Given the description of an element on the screen output the (x, y) to click on. 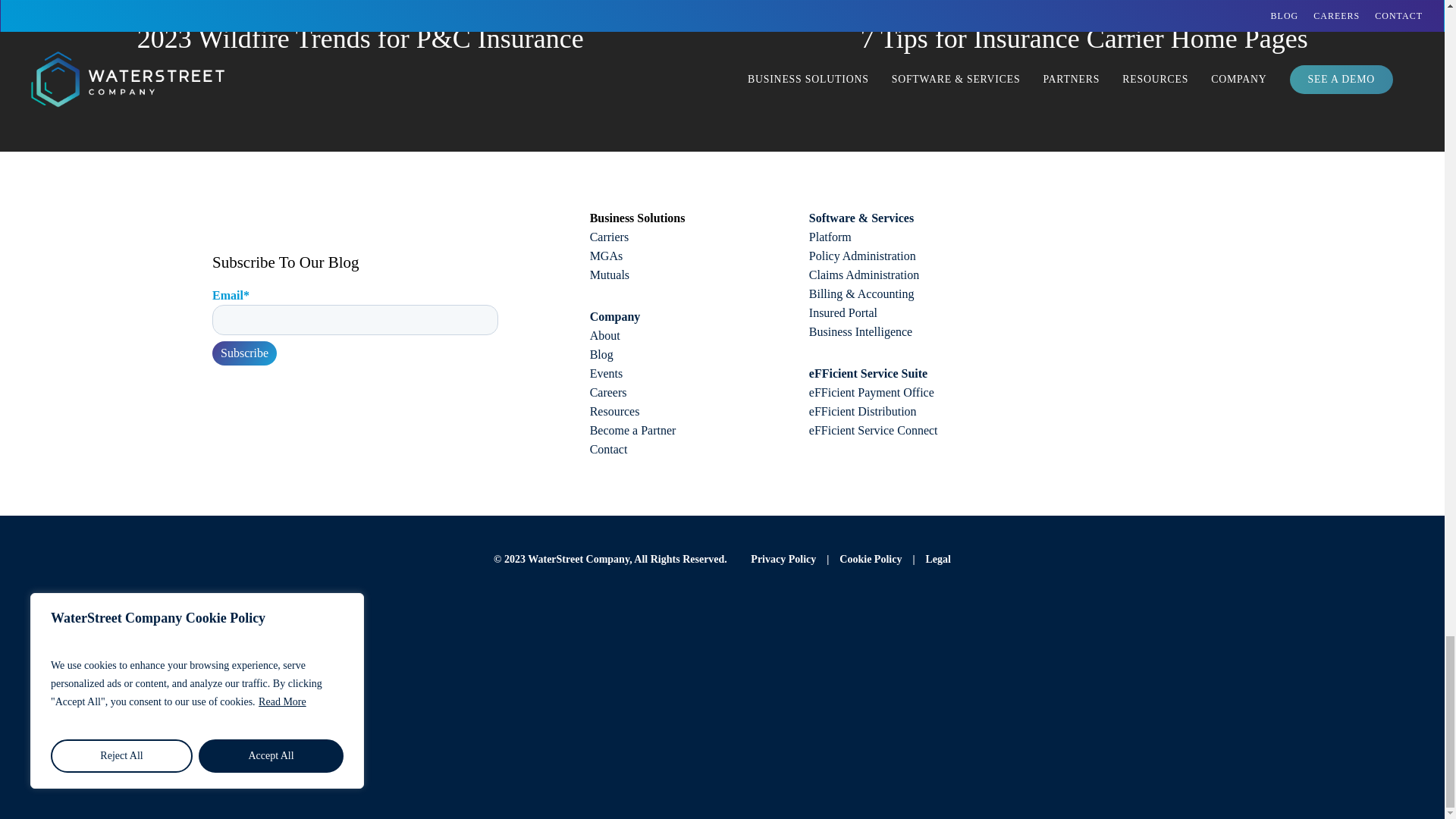
Subscribe (244, 353)
